Given the description of an element on the screen output the (x, y) to click on. 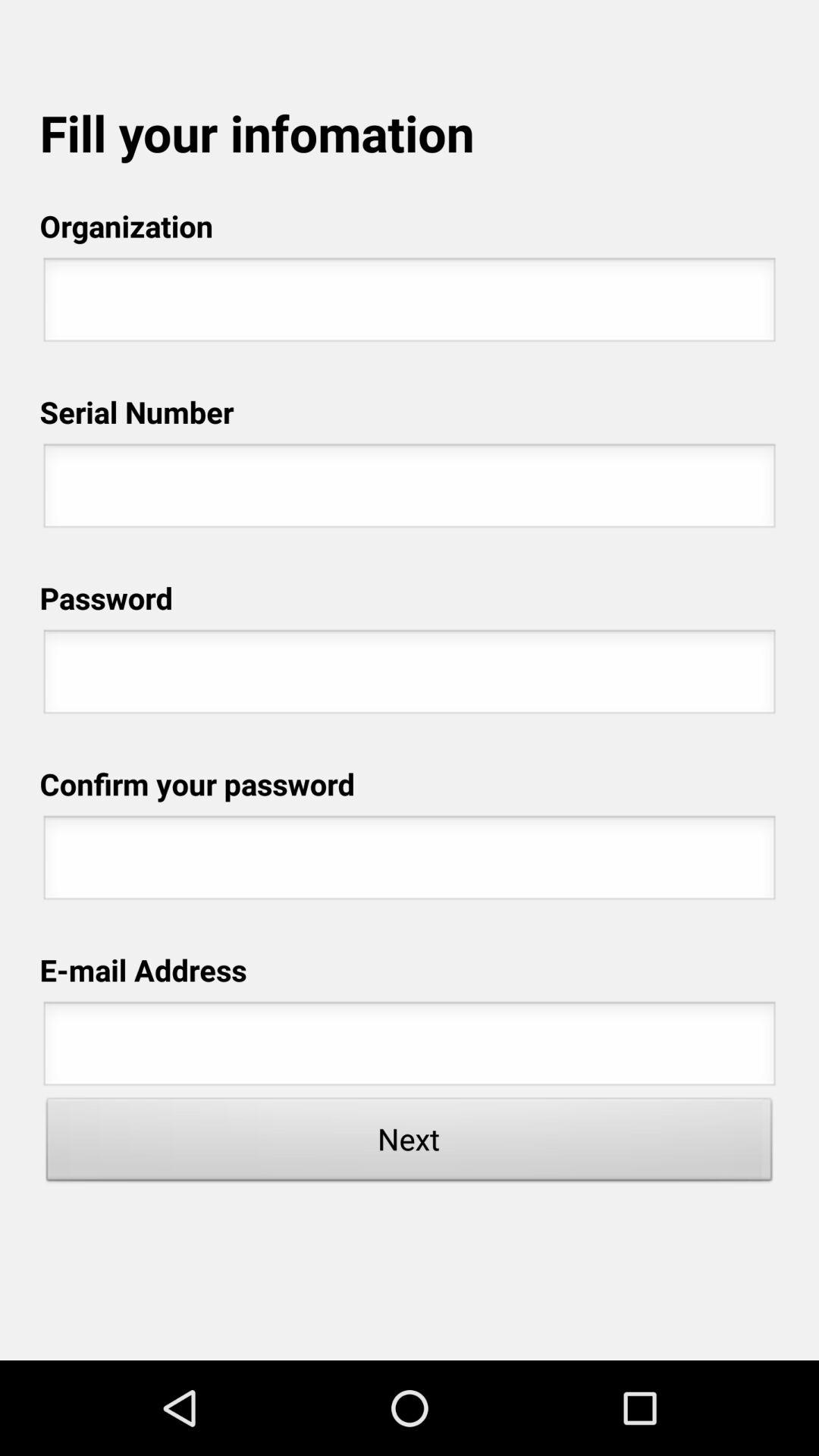
enter serial number (409, 490)
